Given the description of an element on the screen output the (x, y) to click on. 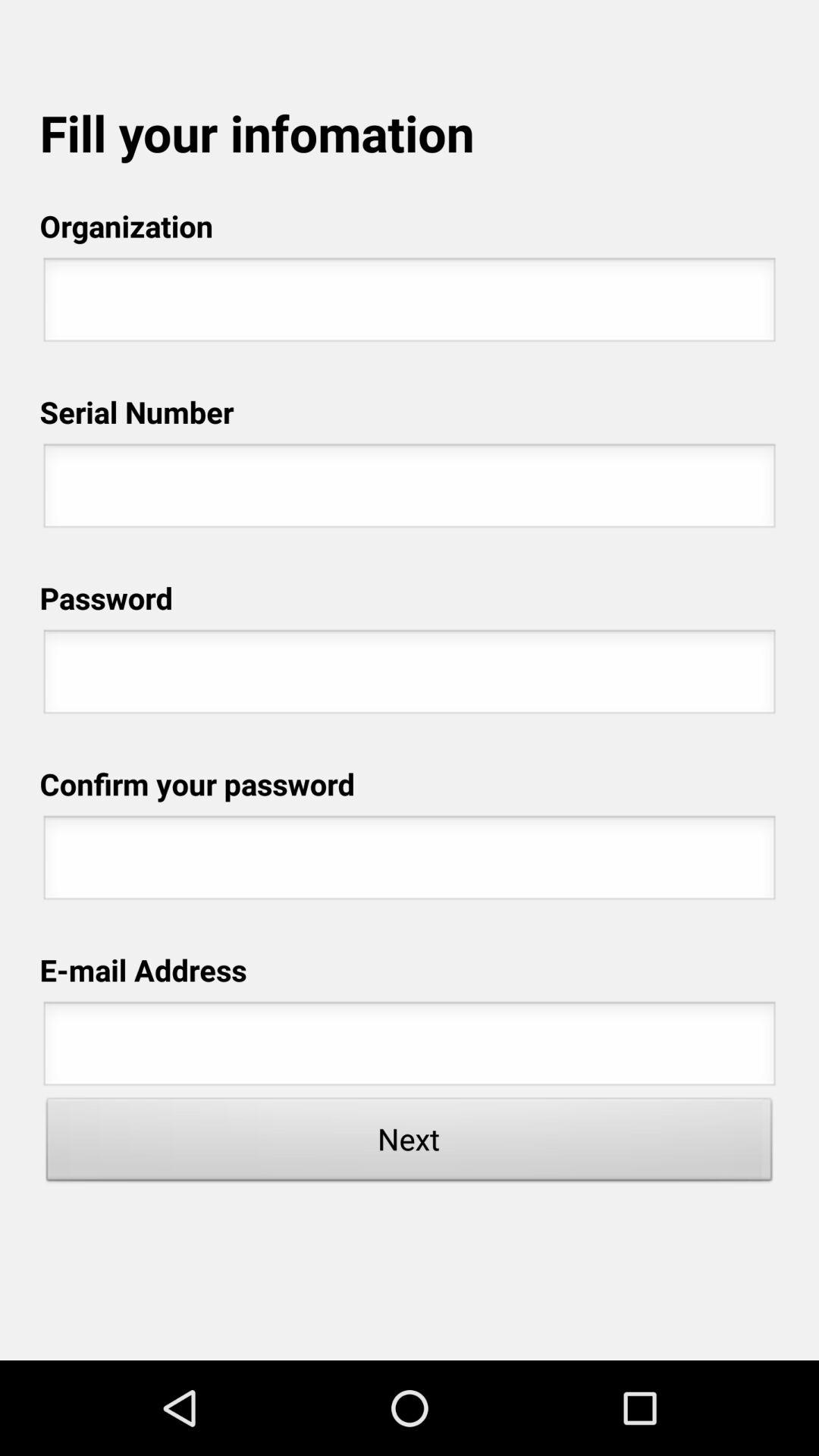
enter serial number (409, 490)
